Given the description of an element on the screen output the (x, y) to click on. 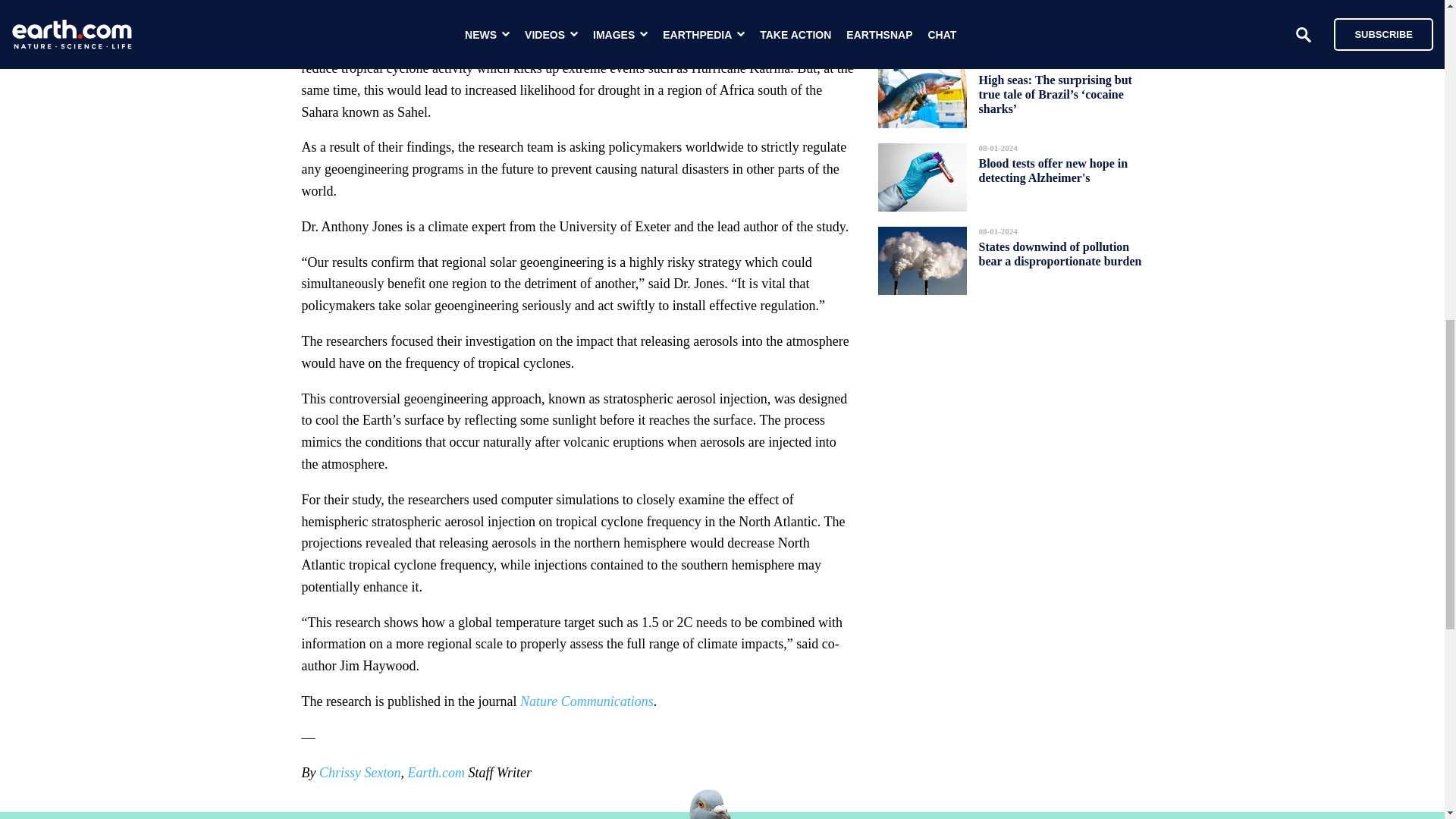
States downwind of pollution bear a disproportionate burden (1059, 253)
Nature Communications (586, 701)
Earth.com (435, 772)
Chrissy Sexton (359, 772)
Blood tests offer new hope in detecting Alzheimer's (1052, 170)
